Given the description of an element on the screen output the (x, y) to click on. 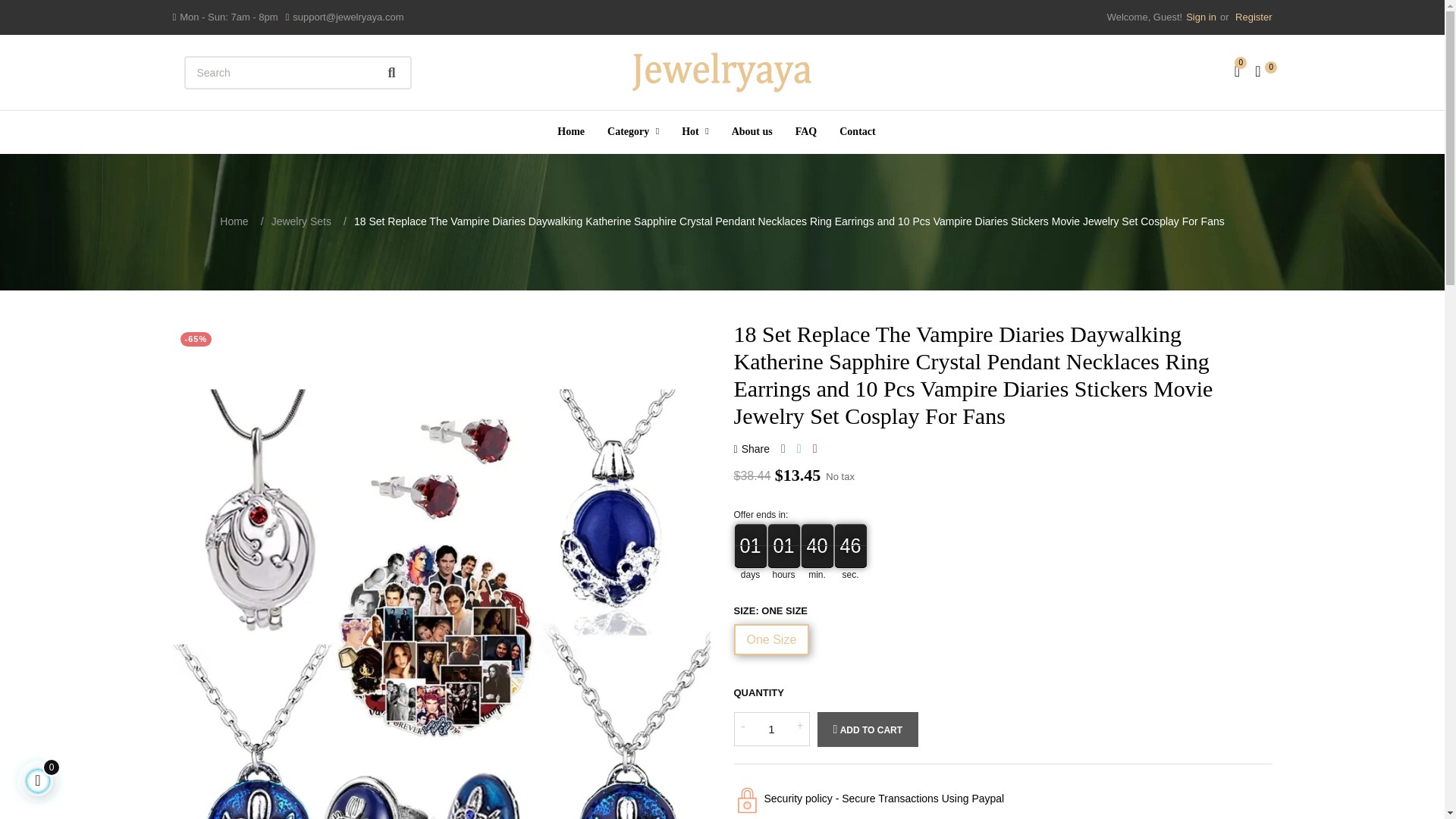
 Register (1251, 16)
Log in to your customer account (1200, 16)
Register (1251, 16)
Sign in (1200, 16)
1 (771, 728)
